Given the description of an element on the screen output the (x, y) to click on. 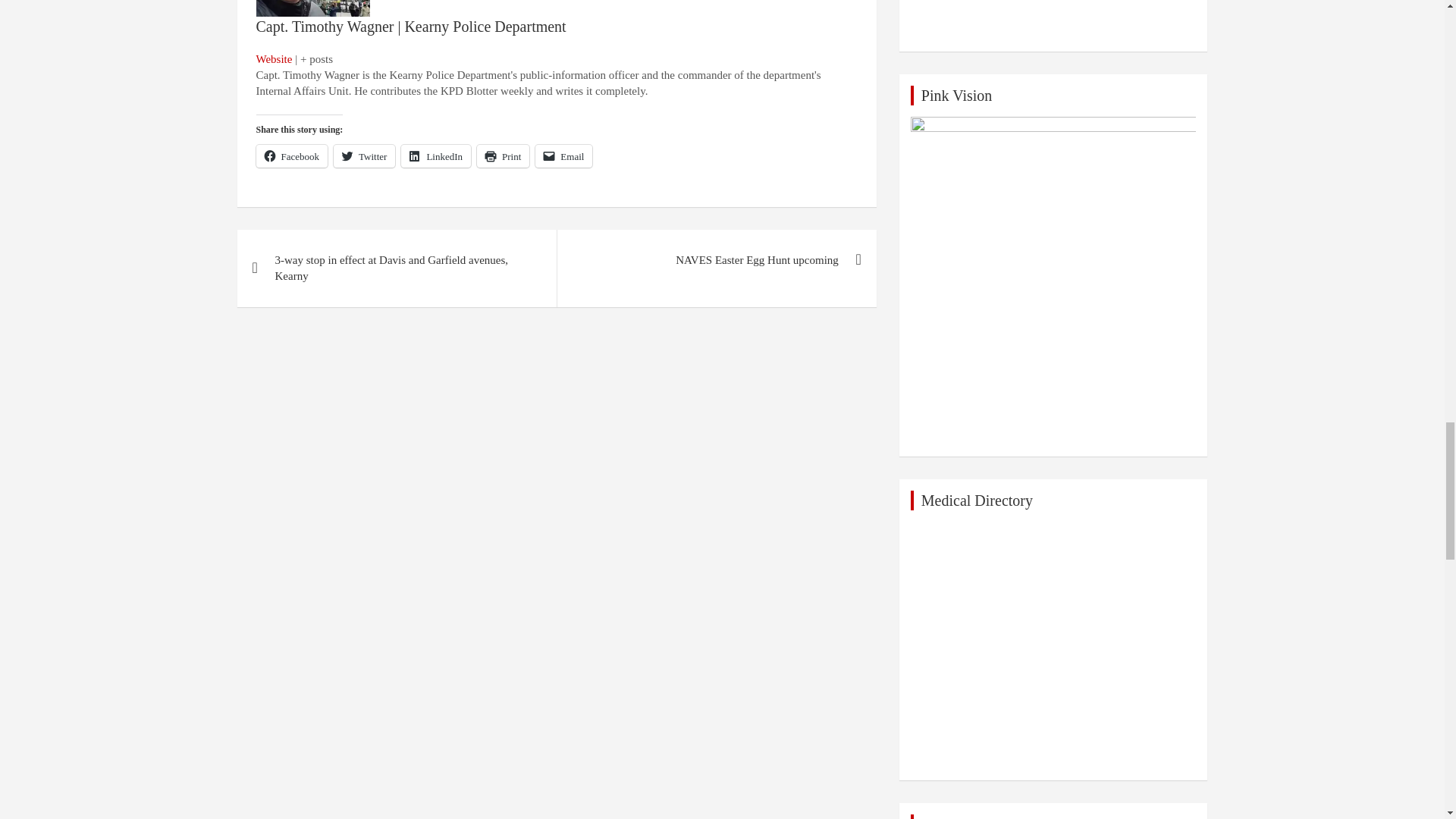
Click to print (503, 155)
Click to email a link to a friend (563, 155)
Click to share on LinkedIn (435, 155)
Click to share on Facebook (292, 155)
Click to share on Twitter (363, 155)
